Given the description of an element on the screen output the (x, y) to click on. 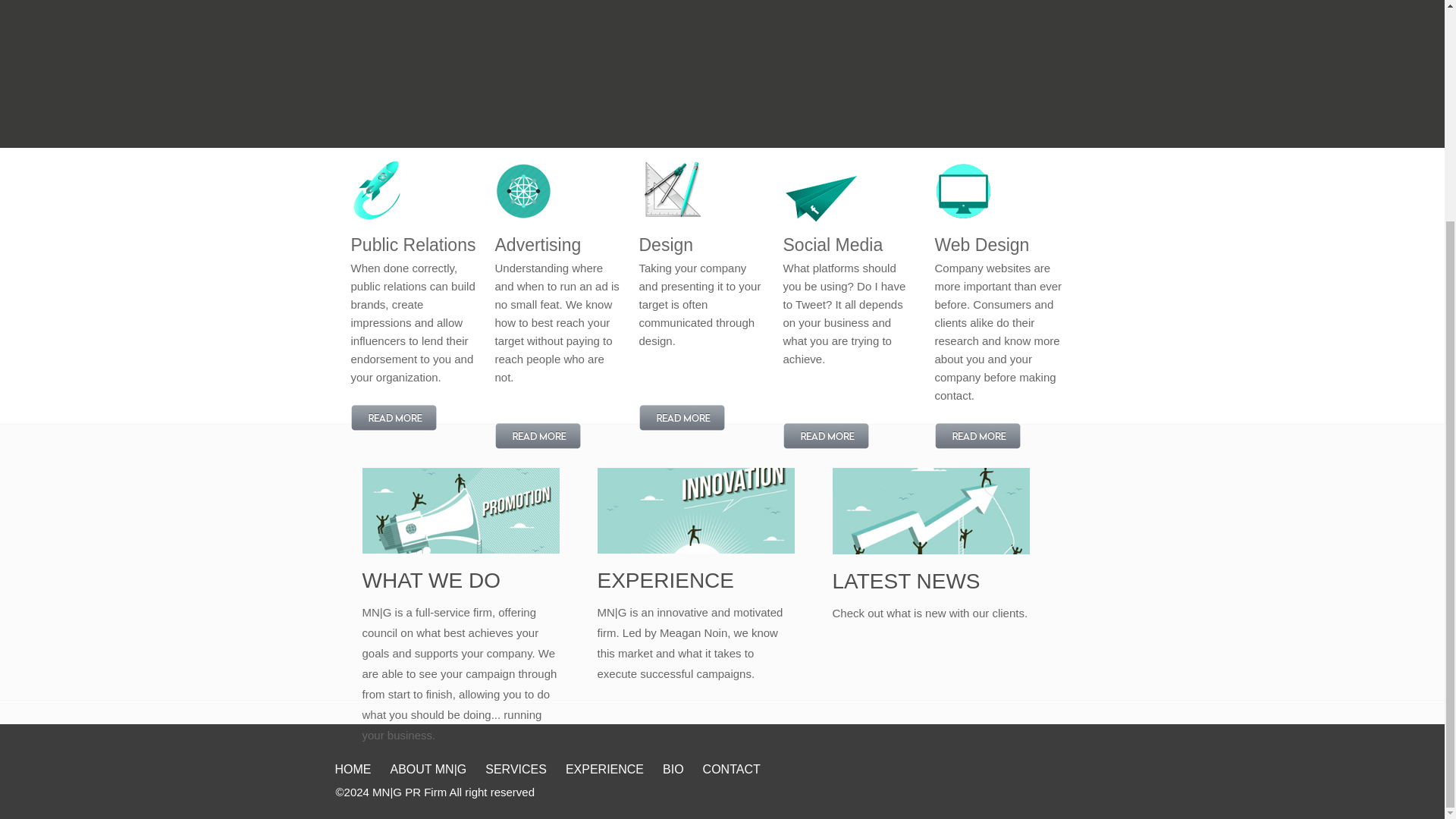
CONTACT (735, 760)
HOME (356, 760)
BIO (676, 760)
SERVICES (519, 760)
EXPERIENCE (608, 760)
